Given the description of an element on the screen output the (x, y) to click on. 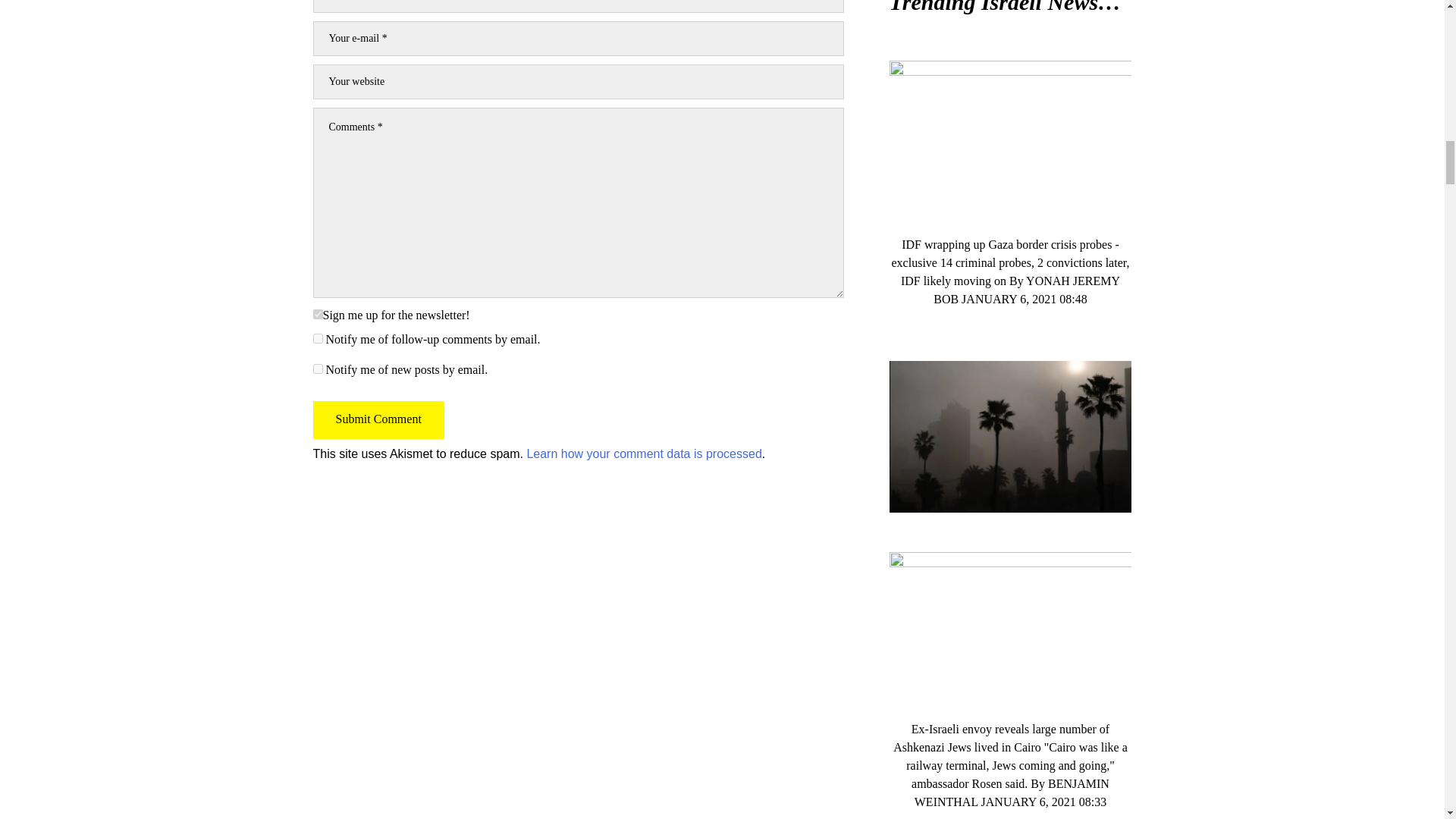
Submit Comment (378, 419)
1 (317, 314)
subscribe (317, 338)
Submit Comment (378, 419)
Learn how your comment data is processed (643, 453)
subscribe (317, 368)
